Given the description of an element on the screen output the (x, y) to click on. 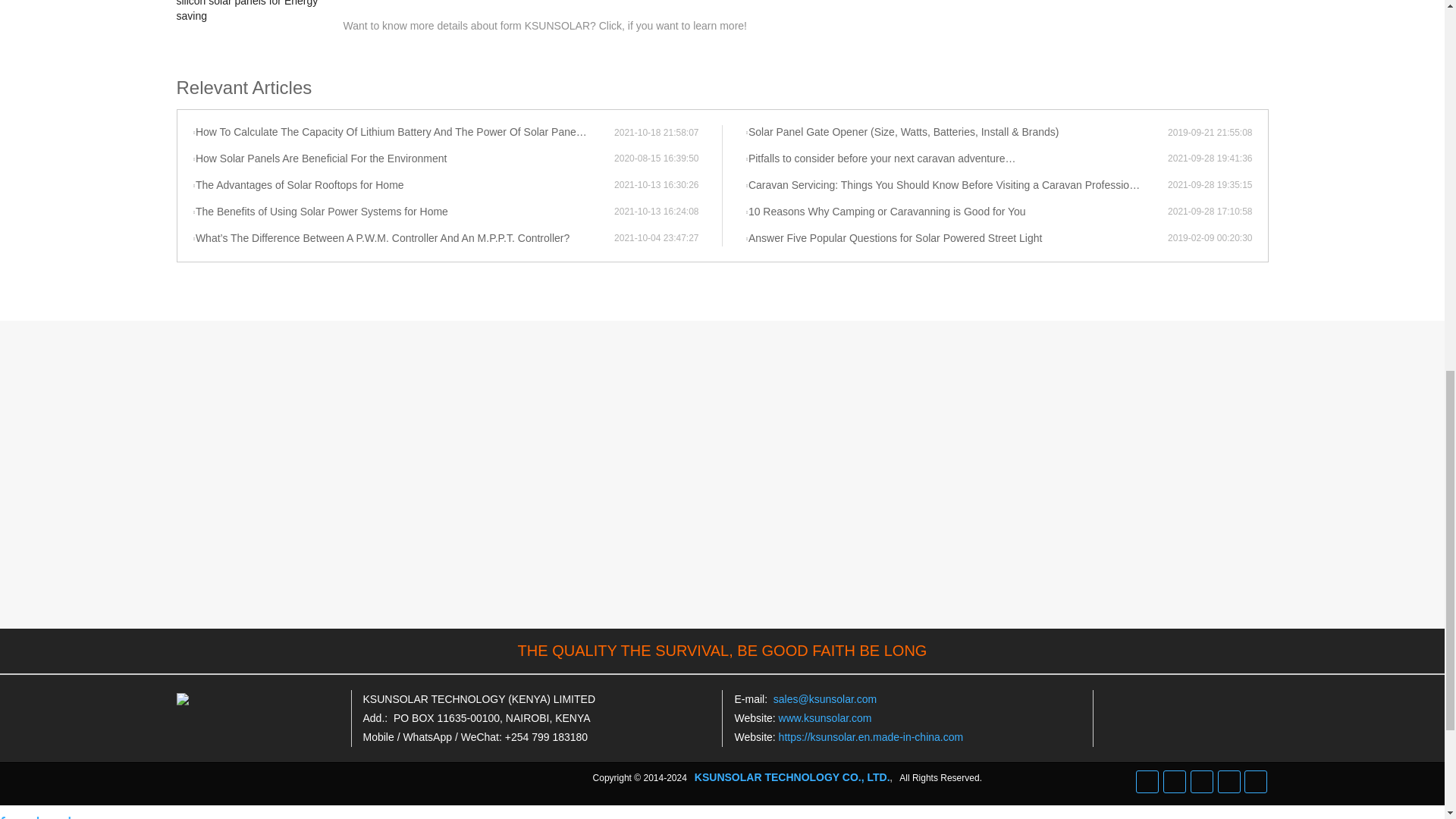
www.ksunsolar.com (825, 717)
10 Reasons Why Camping or Caravanning is Good for You (955, 212)
Answer Five Popular Questions for Solar Powered Street Light (955, 238)
How Solar Panels Are Beneficial For the Environment (403, 159)
The Advantages of Solar Rooftops for Home (403, 185)
The Benefits of Using Solar Power Systems for Home (403, 212)
